Given the description of an element on the screen output the (x, y) to click on. 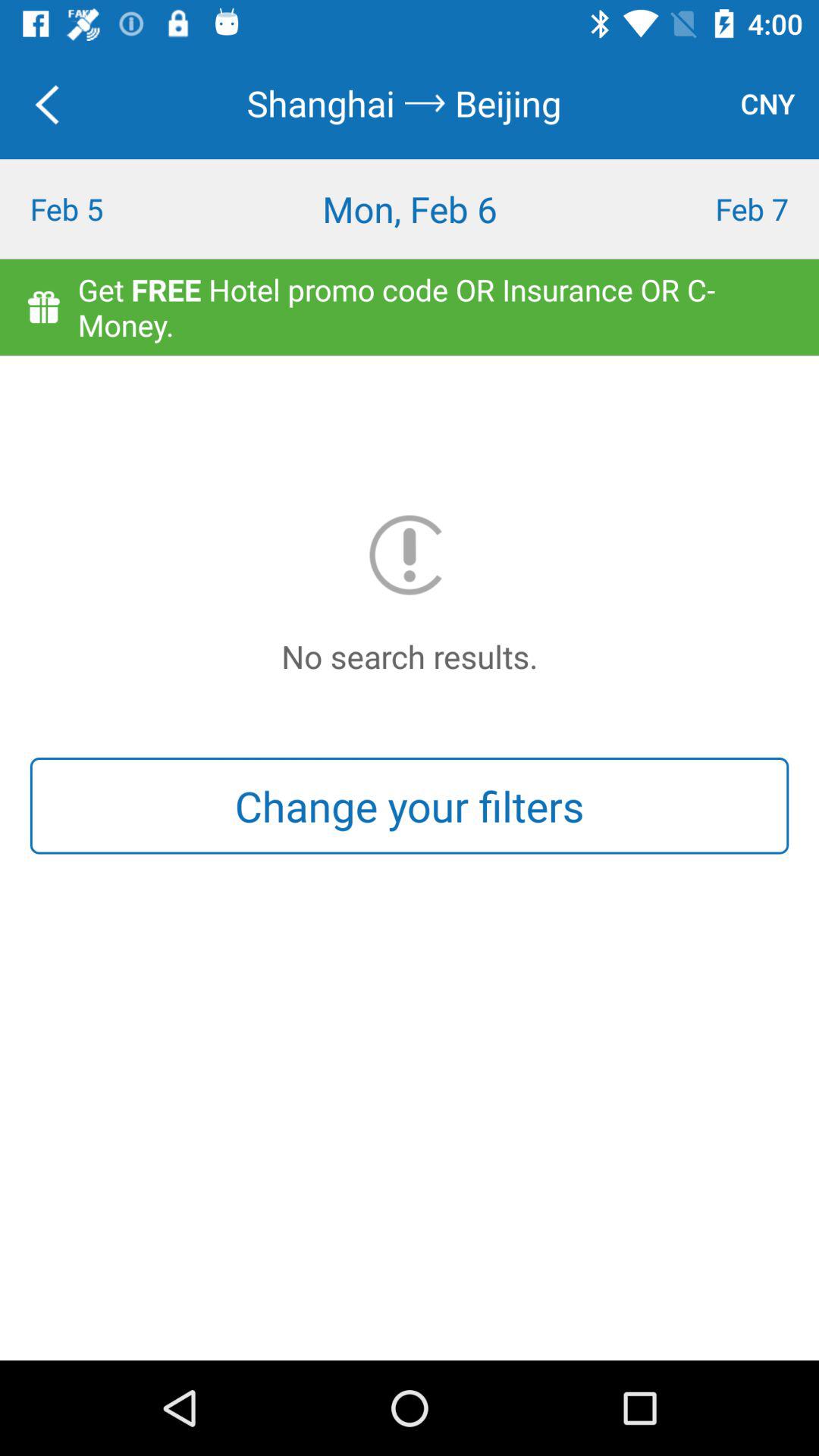
click on gift icon which is below feb 5 (43, 307)
select feb 7 button which is at right side of the page (716, 208)
select the icon which is after shanghai on page (424, 103)
select change your filters button on the page (409, 805)
